Given the description of an element on the screen output the (x, y) to click on. 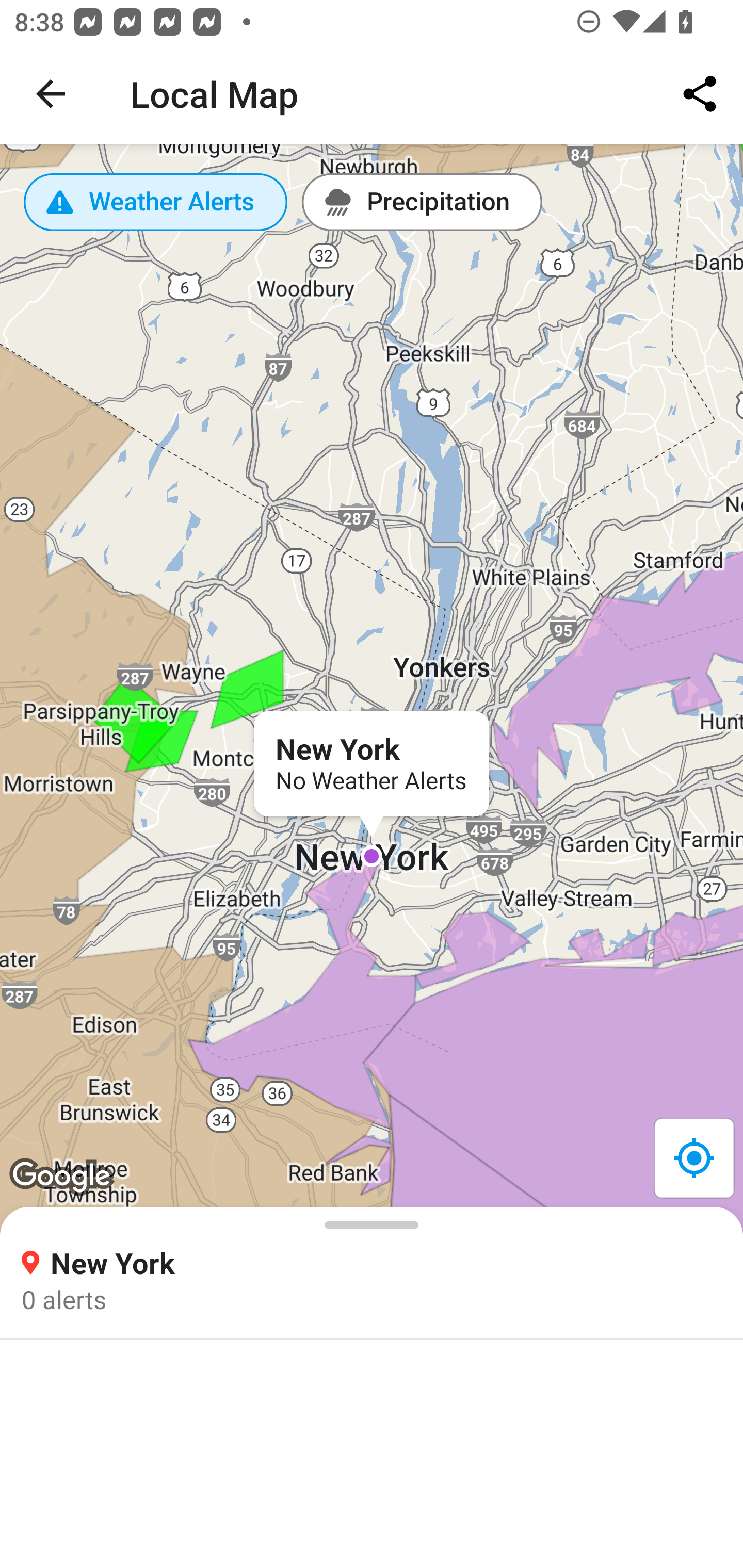
Navigate up (50, 93)
Share (699, 93)
Weather Alerts (155, 202)
Precipitation (421, 202)
My location button (693, 1157)
